Given the description of an element on the screen output the (x, y) to click on. 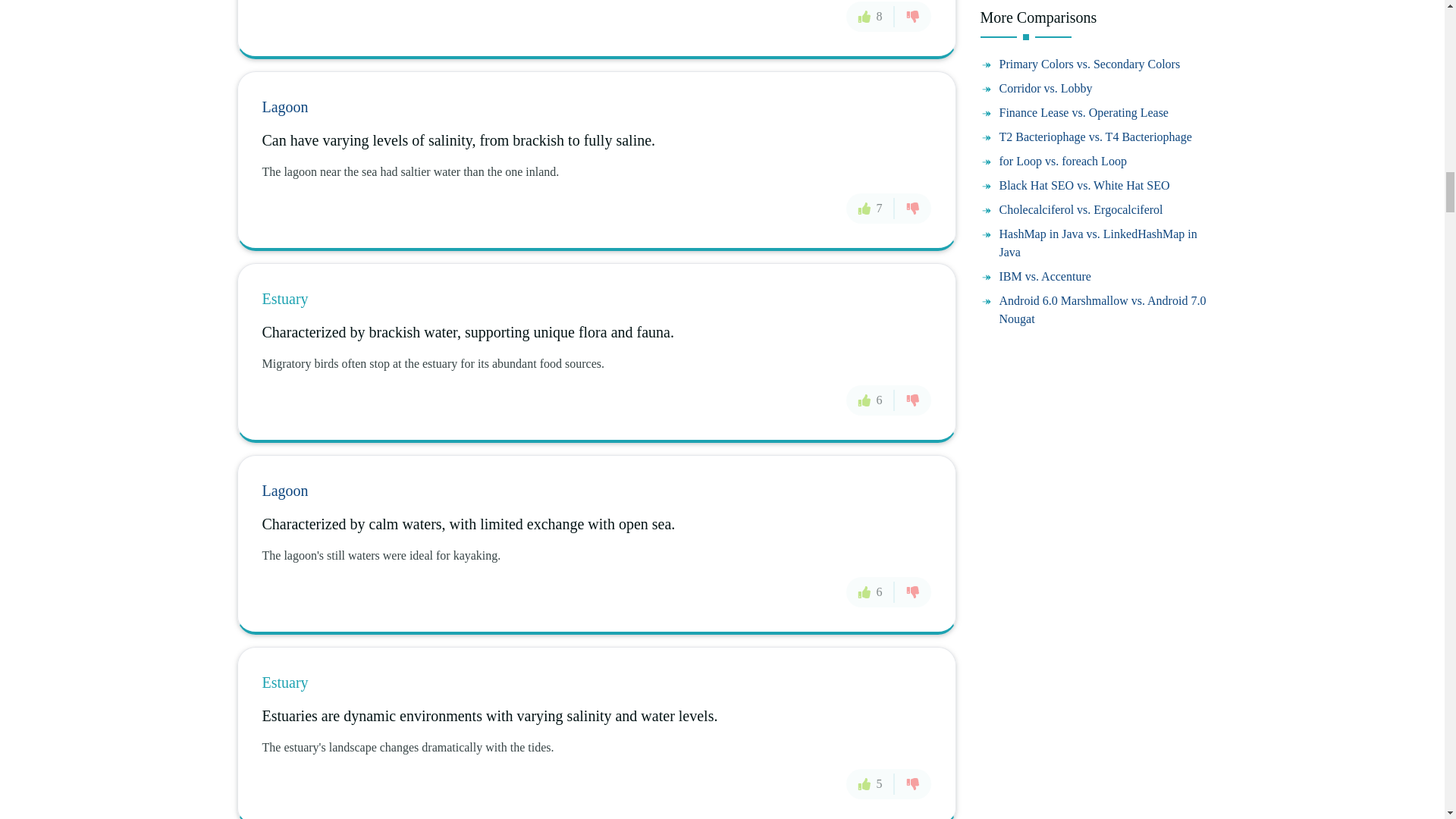
8 (870, 16)
6 (870, 399)
6 (870, 591)
7 (870, 207)
5 (870, 784)
